Given the description of an element on the screen output the (x, y) to click on. 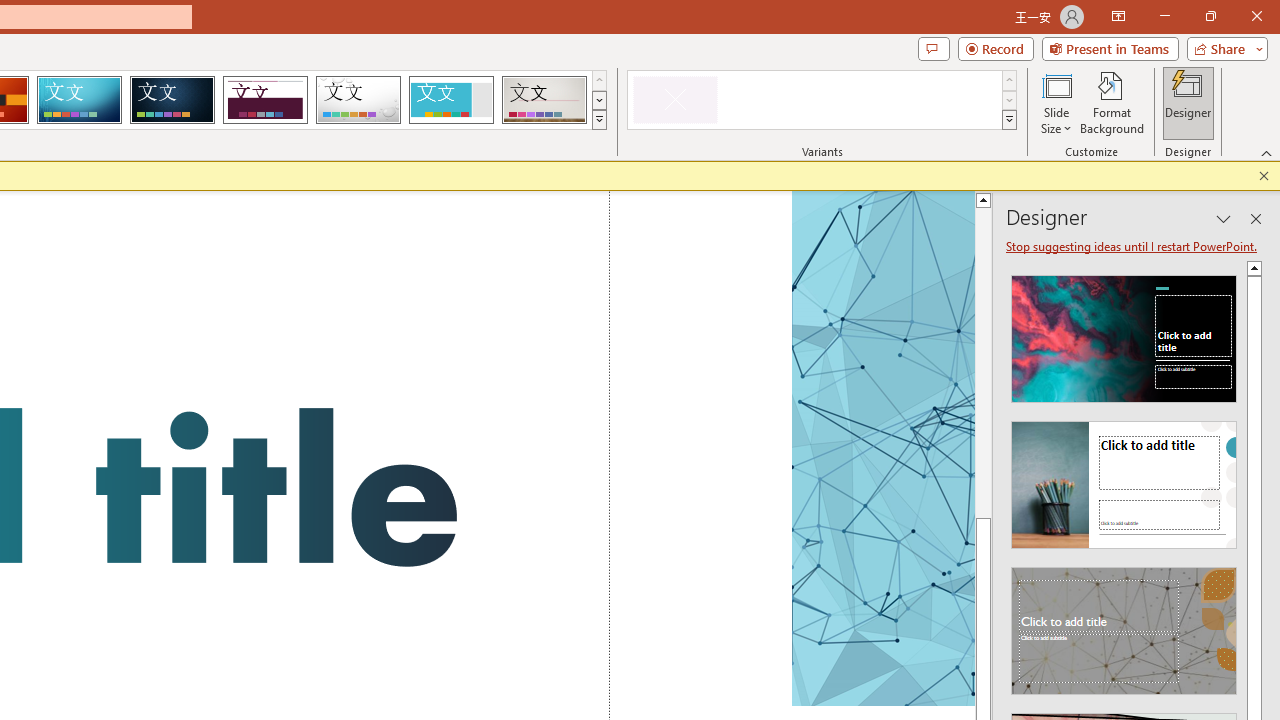
Dividend (265, 100)
Frame (450, 100)
Gallery (544, 100)
Themes (598, 120)
Slide Size (1056, 102)
Design Idea (1124, 624)
Turn off Designer for this session. (1133, 246)
